Given the description of an element on the screen output the (x, y) to click on. 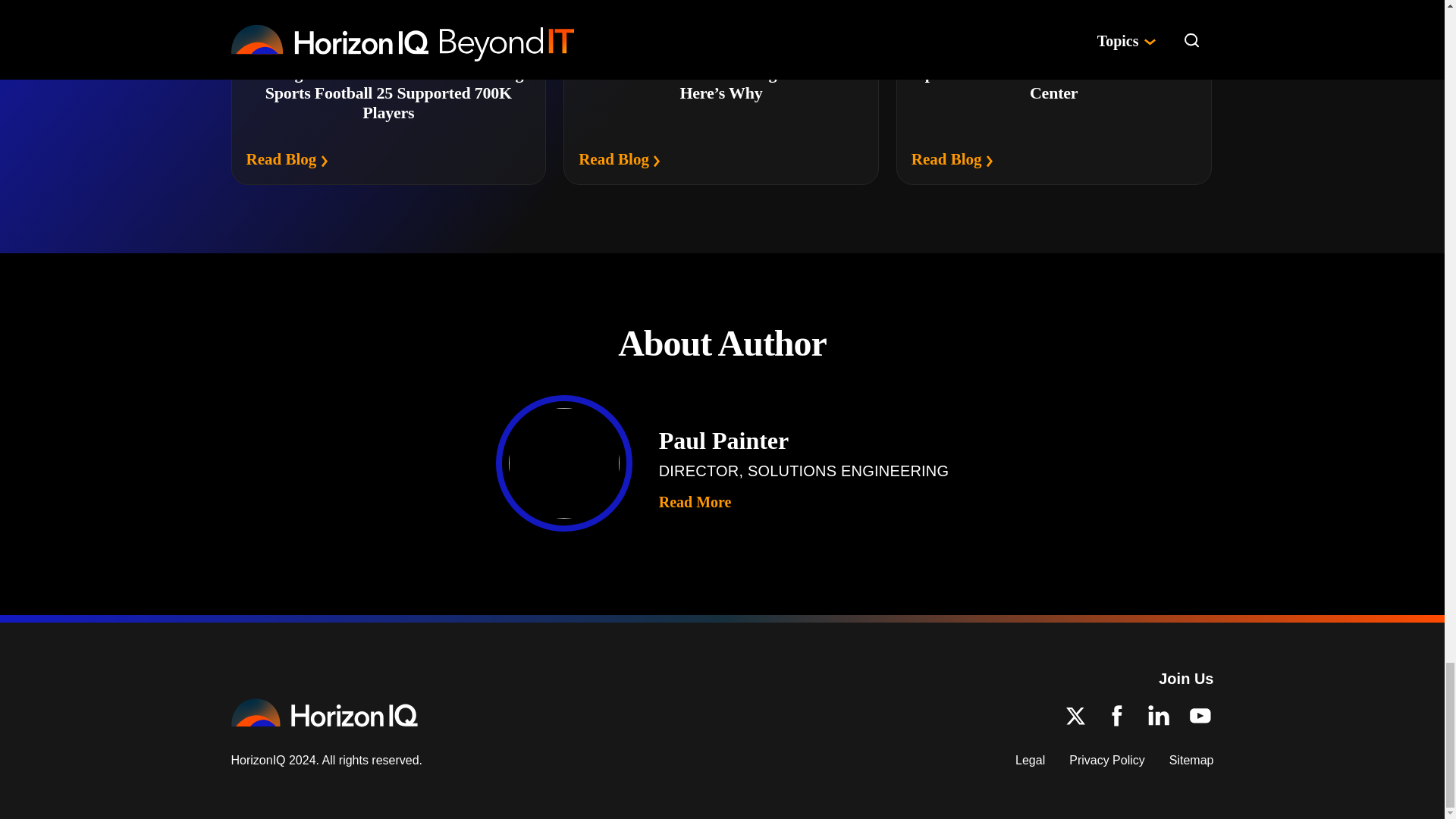
Read Blog (619, 159)
Read More (695, 501)
Read Blog (951, 159)
Read Blog (286, 159)
